Given the description of an element on the screen output the (x, y) to click on. 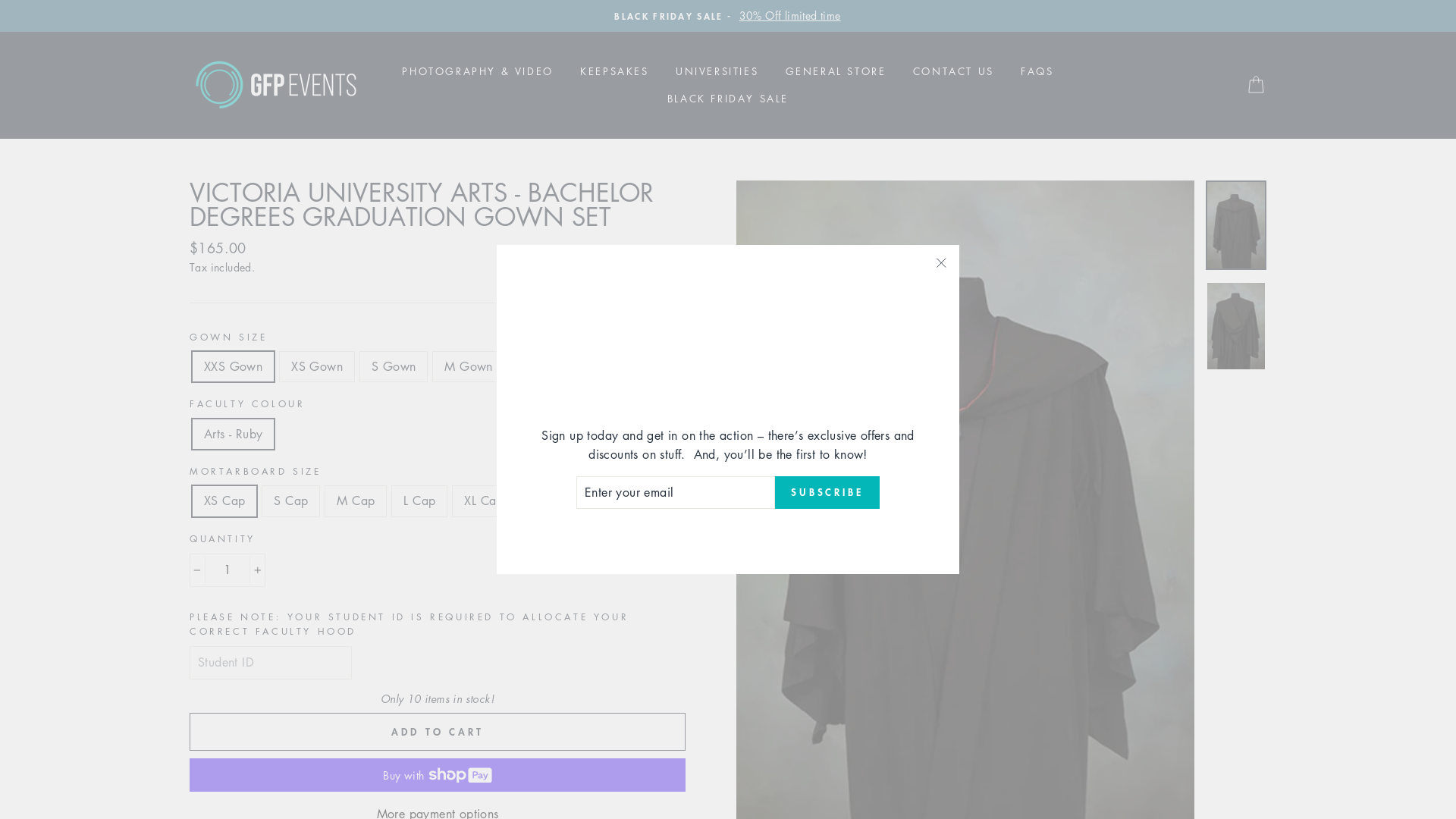
UNIVERSITIES Element type: text (716, 70)
FAQS Element type: text (1036, 70)
GENERAL STORE Element type: text (835, 70)
CONTACT US Element type: text (953, 70)
KEEPSAKES Element type: text (613, 70)
"Close (esc)" Element type: text (940, 262)
SUBSCRIBE Element type: text (827, 492)
ADD TO CART Element type: text (437, 731)
CART Element type: text (1255, 85)
BLACK FRIDAY SALE Element type: text (727, 98)
Skip to content Element type: text (0, 0)
+ Element type: text (257, 569)
PHOTOGRAPHY & VIDEO Element type: text (477, 70)
BLACK FRIDAY SALE - 30% Off limited time Element type: text (727, 15)
